Given the description of an element on the screen output the (x, y) to click on. 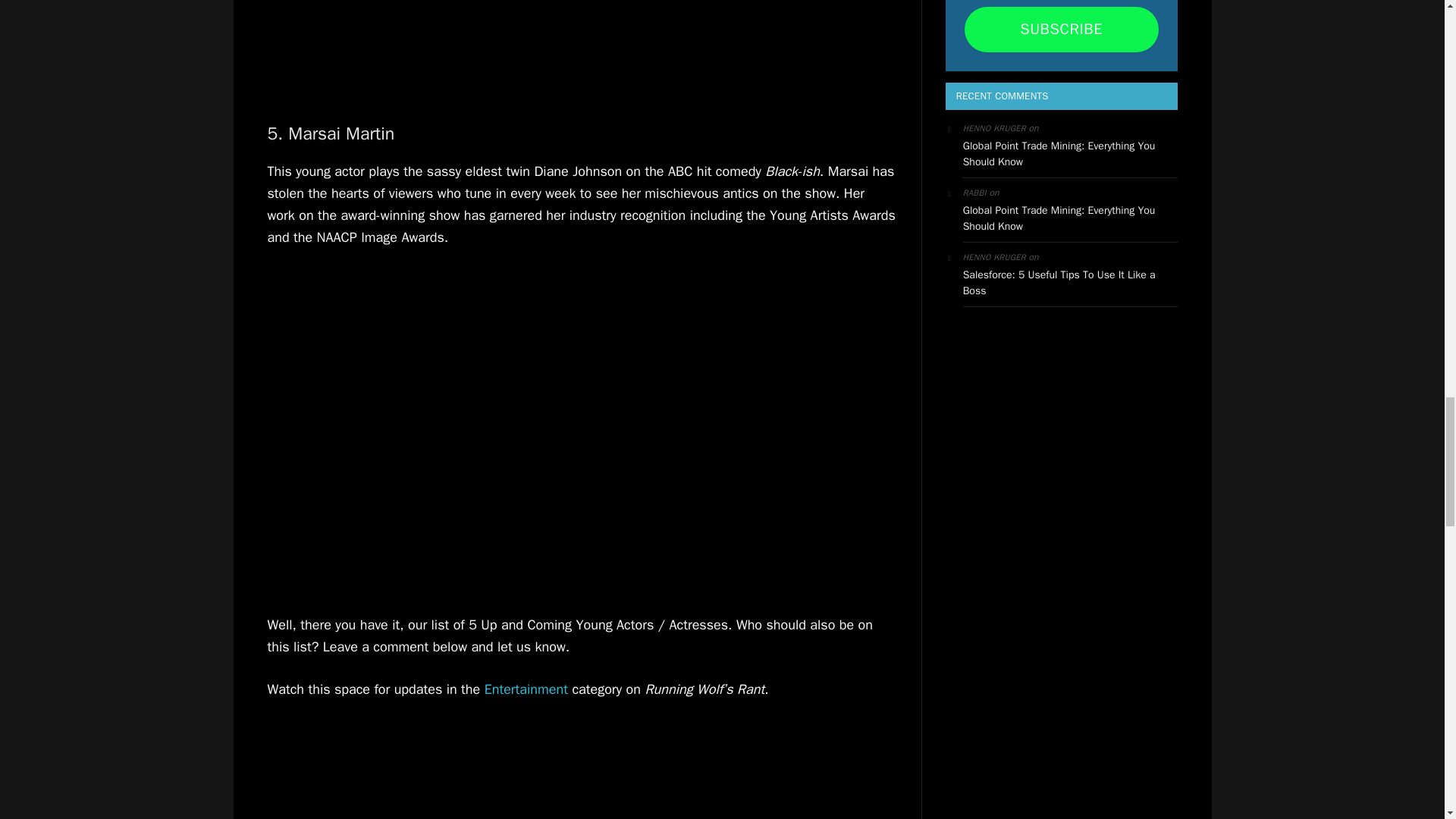
SUBSCRIBE (1060, 29)
